Given the description of an element on the screen output the (x, y) to click on. 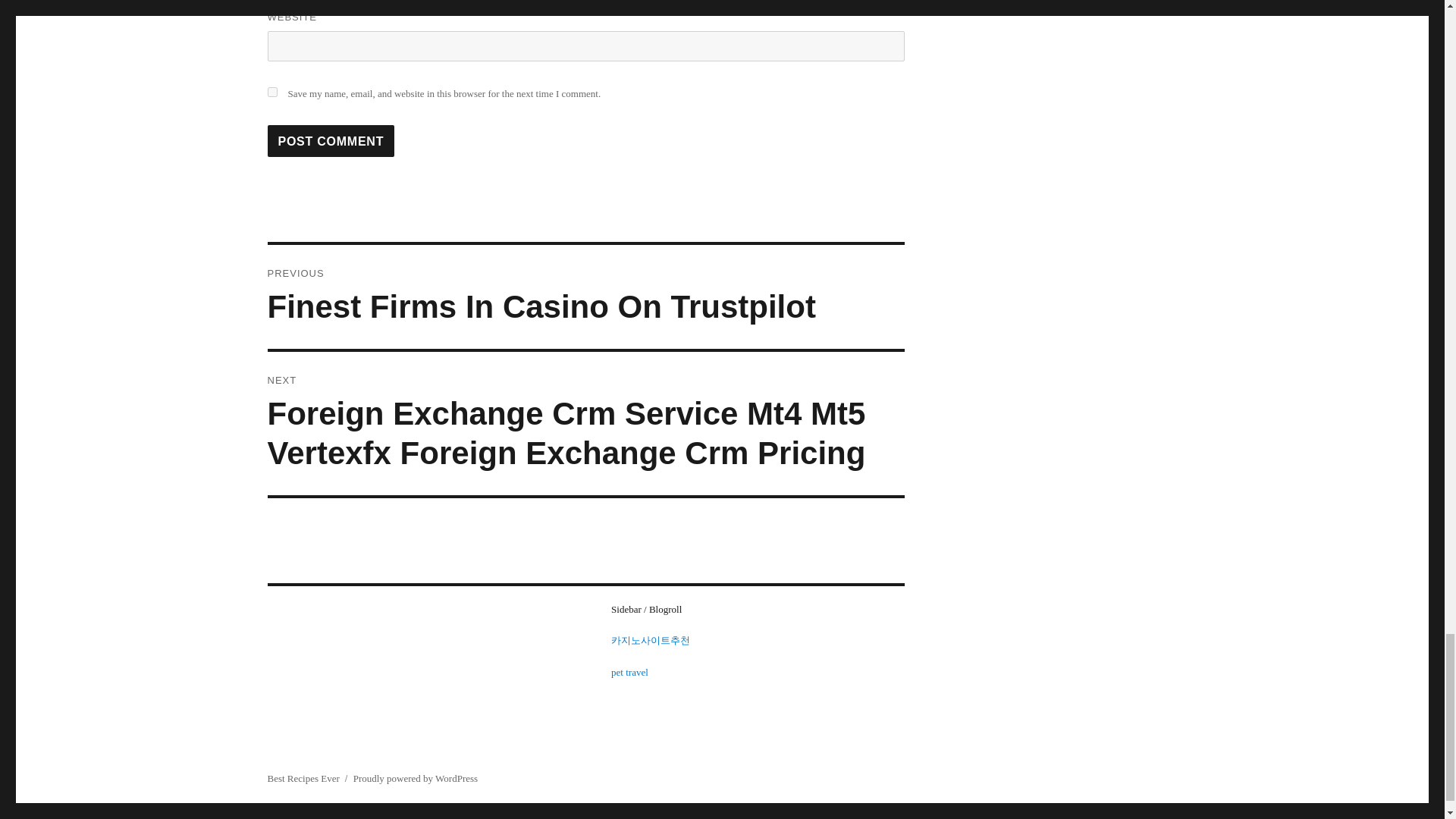
pet travel (629, 672)
Post Comment (330, 141)
yes (271, 91)
Post Comment (330, 141)
